Given the description of an element on the screen output the (x, y) to click on. 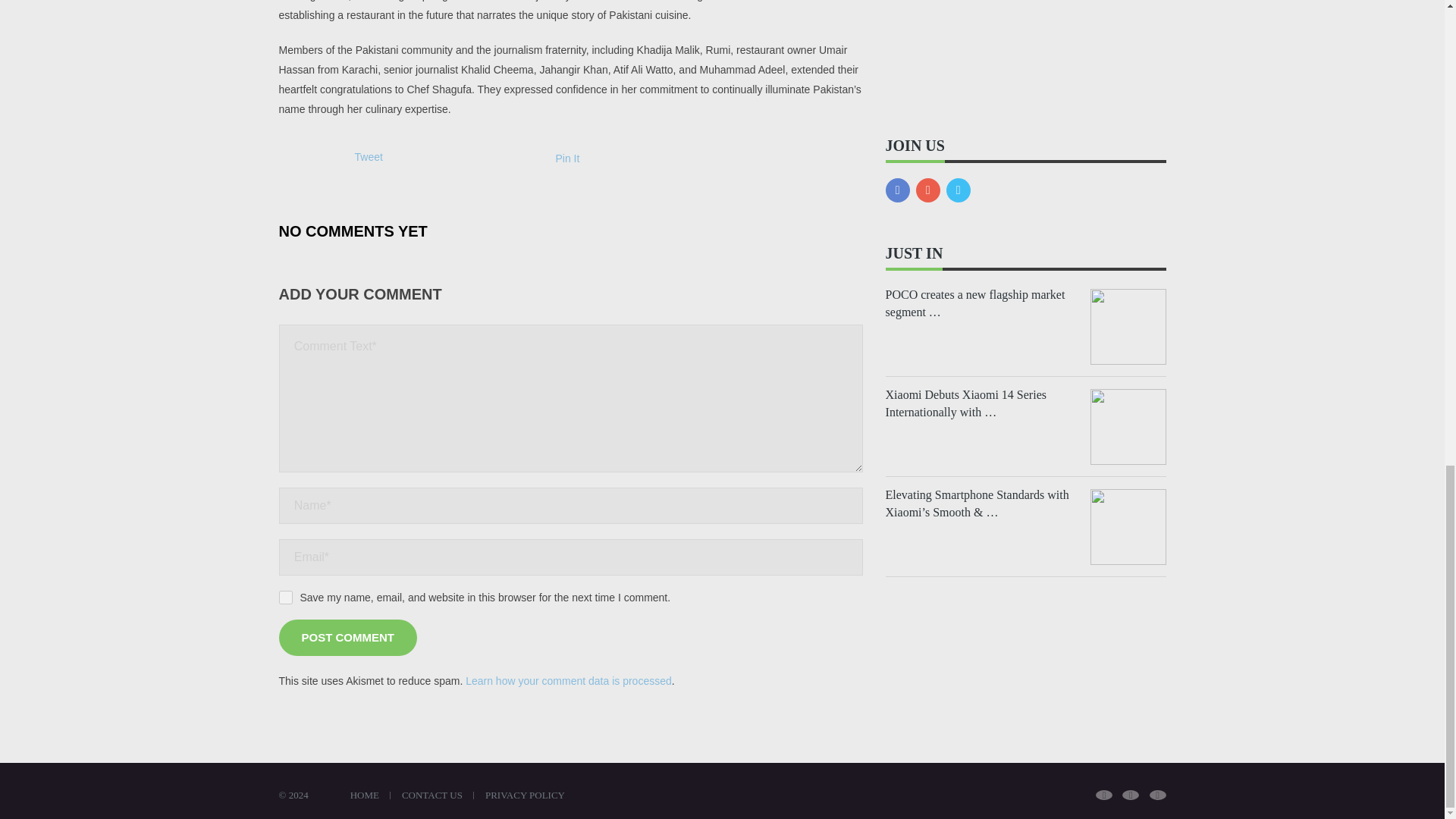
PRIVACY POLICY (530, 794)
CONTACT US (437, 794)
yes (285, 597)
Learn how your comment data is processed (568, 680)
HOME (370, 794)
NO COMMENTS YET (353, 230)
Advertisement (1025, 50)
Post Comment (348, 637)
Post Comment (348, 637)
Tweet (368, 156)
